Given the description of an element on the screen output the (x, y) to click on. 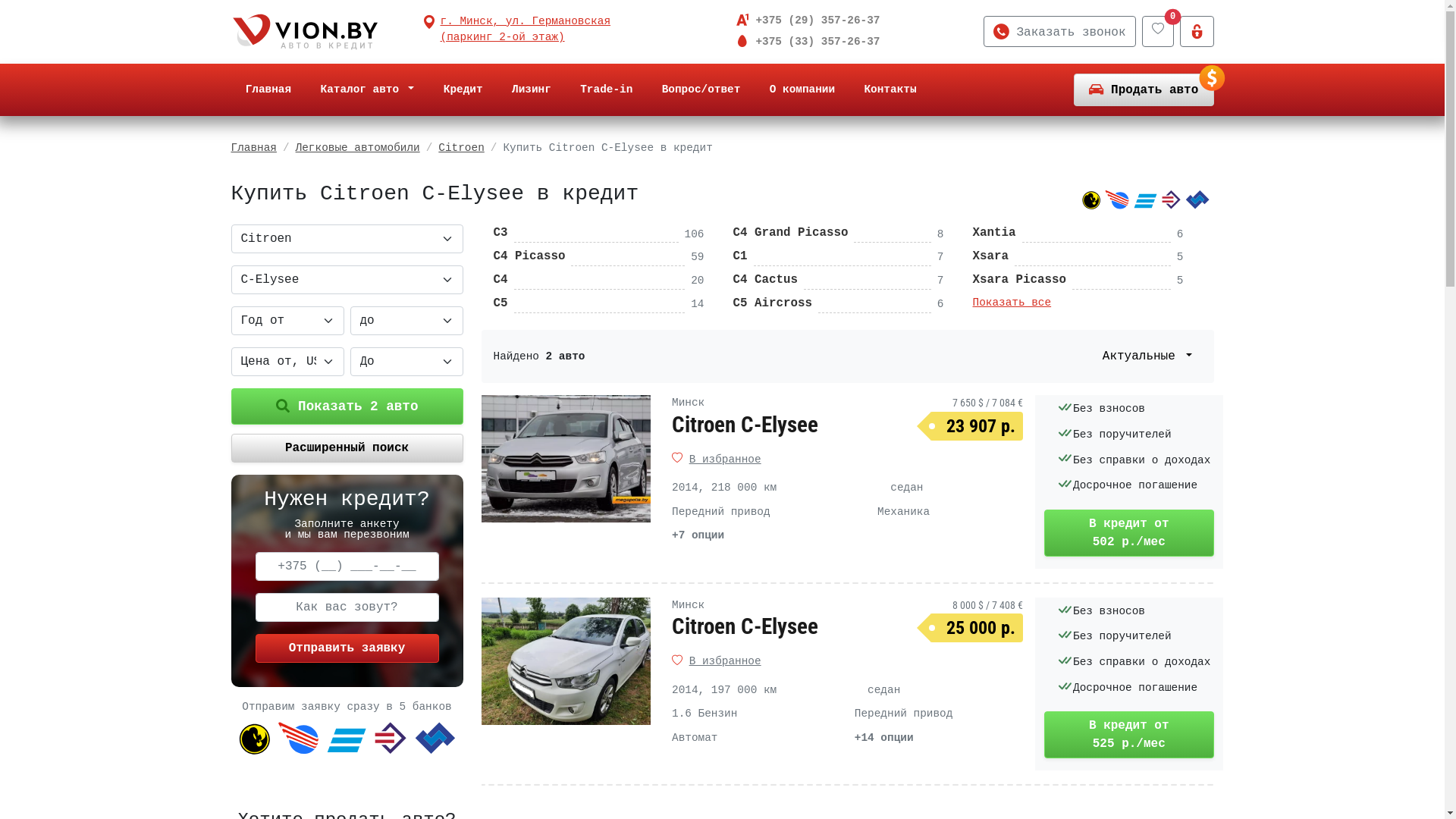
+375 (29) 357-26-37 Element type: text (814, 20)
C1 Element type: text (739, 256)
0 Element type: text (1157, 31)
C3 Element type: text (499, 232)
Xantia Element type: text (993, 232)
Trade-in Element type: text (605, 89)
Xsara Picasso Element type: text (1018, 279)
C4 Grand Picasso Element type: text (789, 232)
C4 Picasso Element type: text (528, 256)
Citroen C-Elysee Element type: text (744, 424)
Xsara Element type: text (990, 256)
Citroen Element type: text (460, 147)
C5 Aircross Element type: text (771, 303)
C4 Element type: text (499, 279)
+375 (33) 357-26-37 Element type: text (814, 41)
Citroen C-Elysee Element type: text (744, 626)
C4 Cactus Element type: text (764, 279)
C5 Element type: text (499, 303)
